Given the description of an element on the screen output the (x, y) to click on. 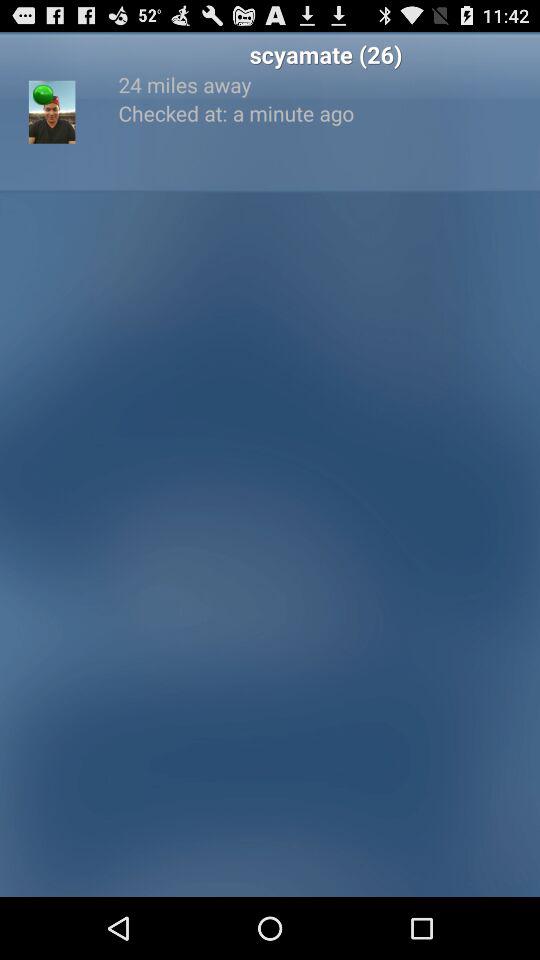
select app to the left of the 24 miles away app (43, 94)
